Given the description of an element on the screen output the (x, y) to click on. 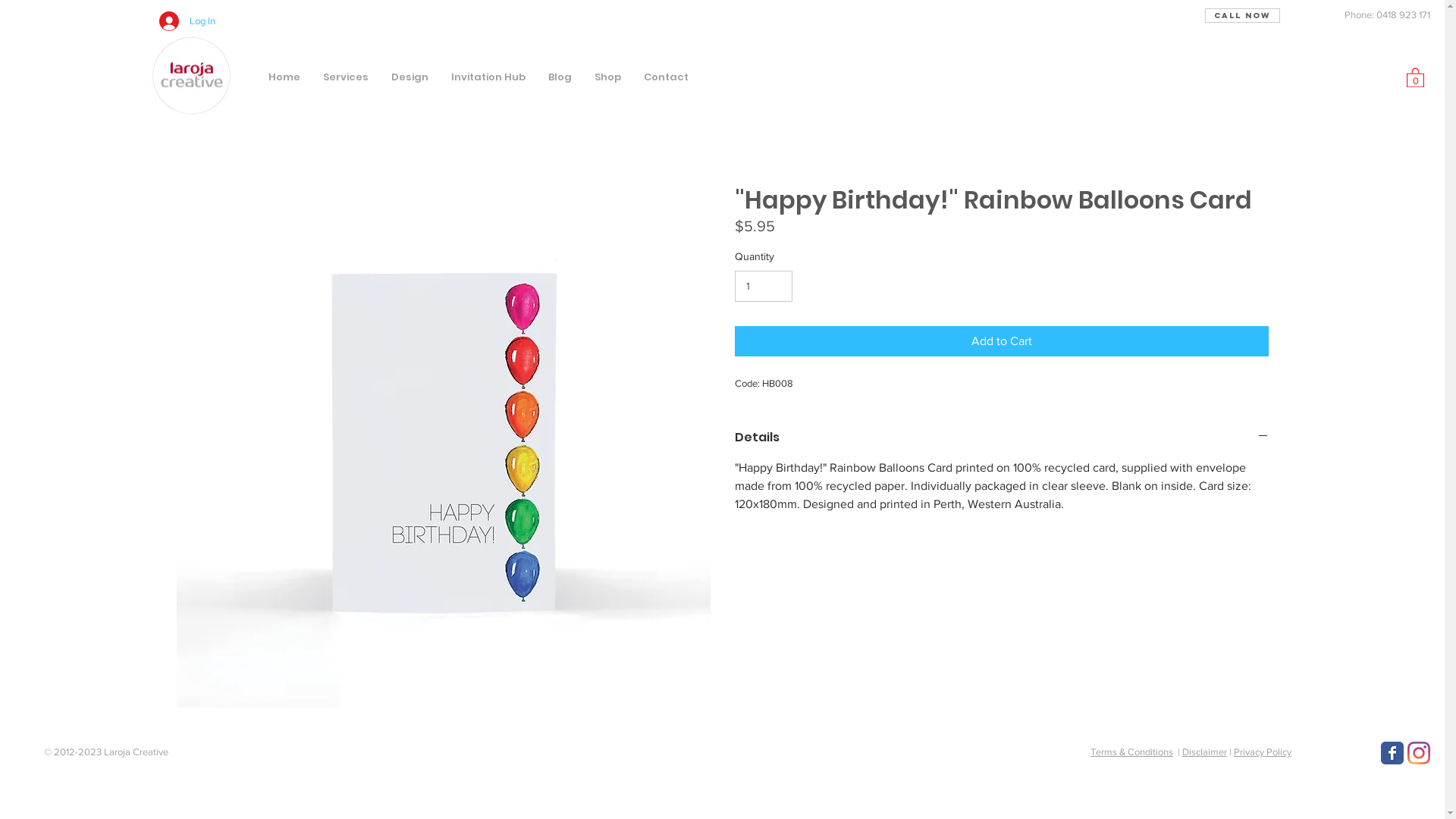
0 Element type: text (1414, 76)
Call Now Element type: text (1242, 15)
Privacy Policy Element type: text (1262, 751)
Shop Element type: text (607, 76)
Add to Cart Element type: text (1000, 341)
Disclaimer Element type: text (1204, 751)
Log In Element type: text (186, 20)
Home Element type: text (284, 76)
Blog Element type: text (559, 76)
Contact Element type: text (665, 76)
0418 923 171 Element type: text (1403, 14)
Services Element type: text (345, 76)
Terms & Conditions Element type: text (1131, 751)
Invitation Hub Element type: text (487, 76)
Details Element type: text (1000, 437)
